Given the description of an element on the screen output the (x, y) to click on. 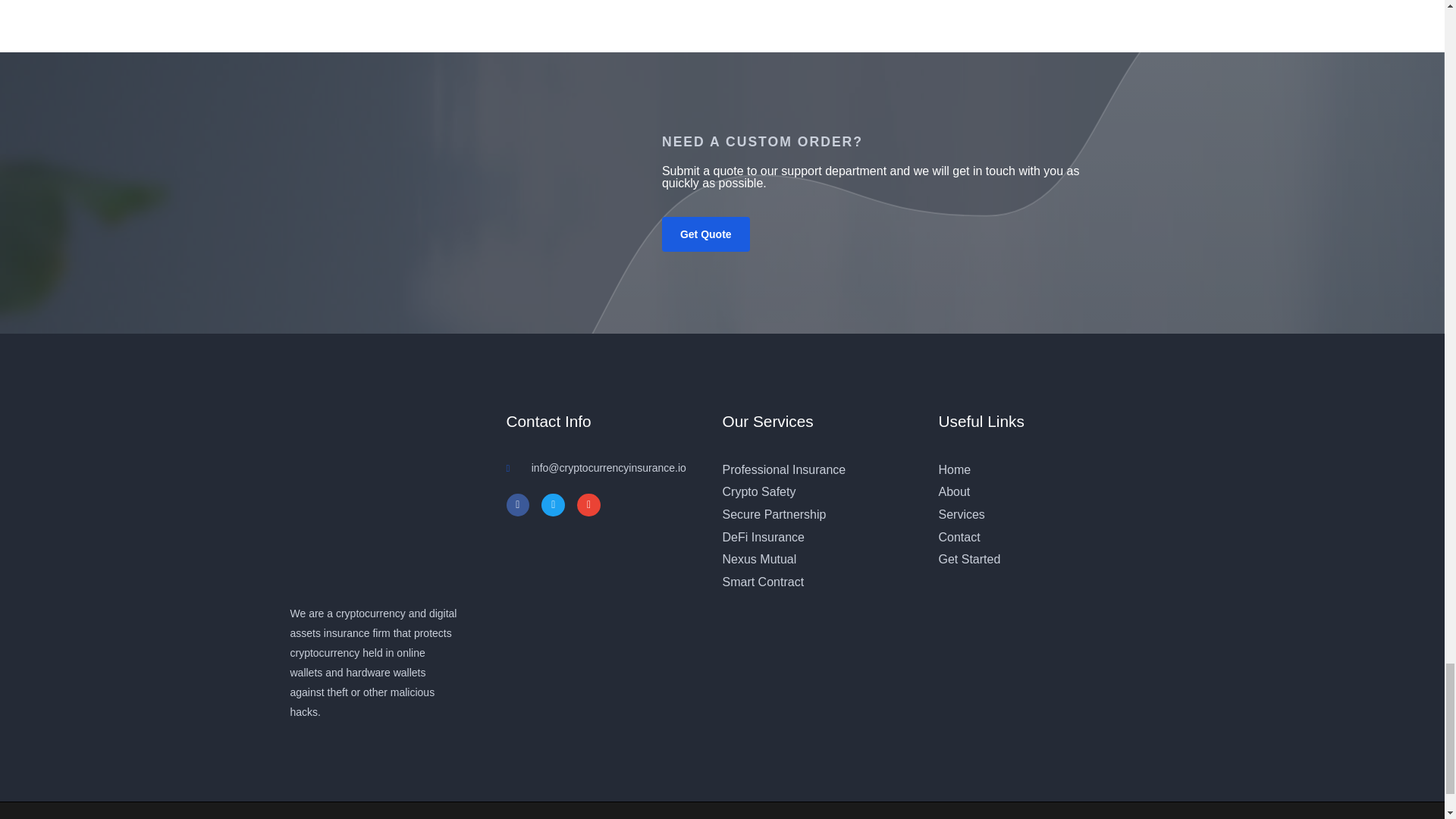
Smart Contract (821, 581)
Get Quote (705, 234)
Home (1038, 469)
Services (1038, 514)
Get Started (1038, 558)
Secure Partnership (821, 514)
Contact (1038, 537)
Professional Insurance (821, 469)
Nexus Mutual (821, 558)
Envelope (587, 504)
